Given the description of an element on the screen output the (x, y) to click on. 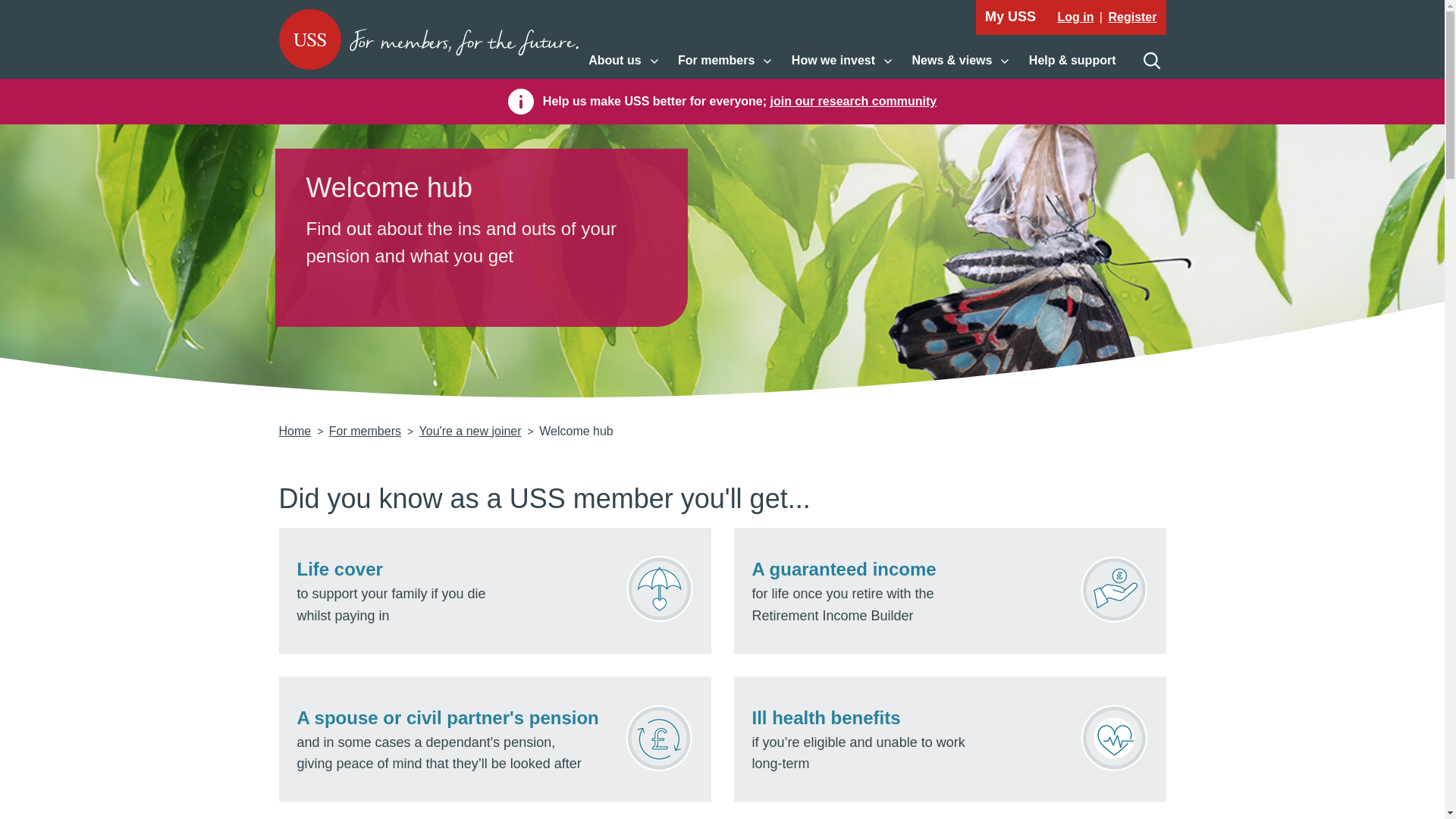
USS - Homepage (428, 39)
Open search (1151, 60)
Log in (1075, 16)
You're a new joiner (622, 60)
Home (470, 431)
join our research community (295, 431)
